Given the description of an element on the screen output the (x, y) to click on. 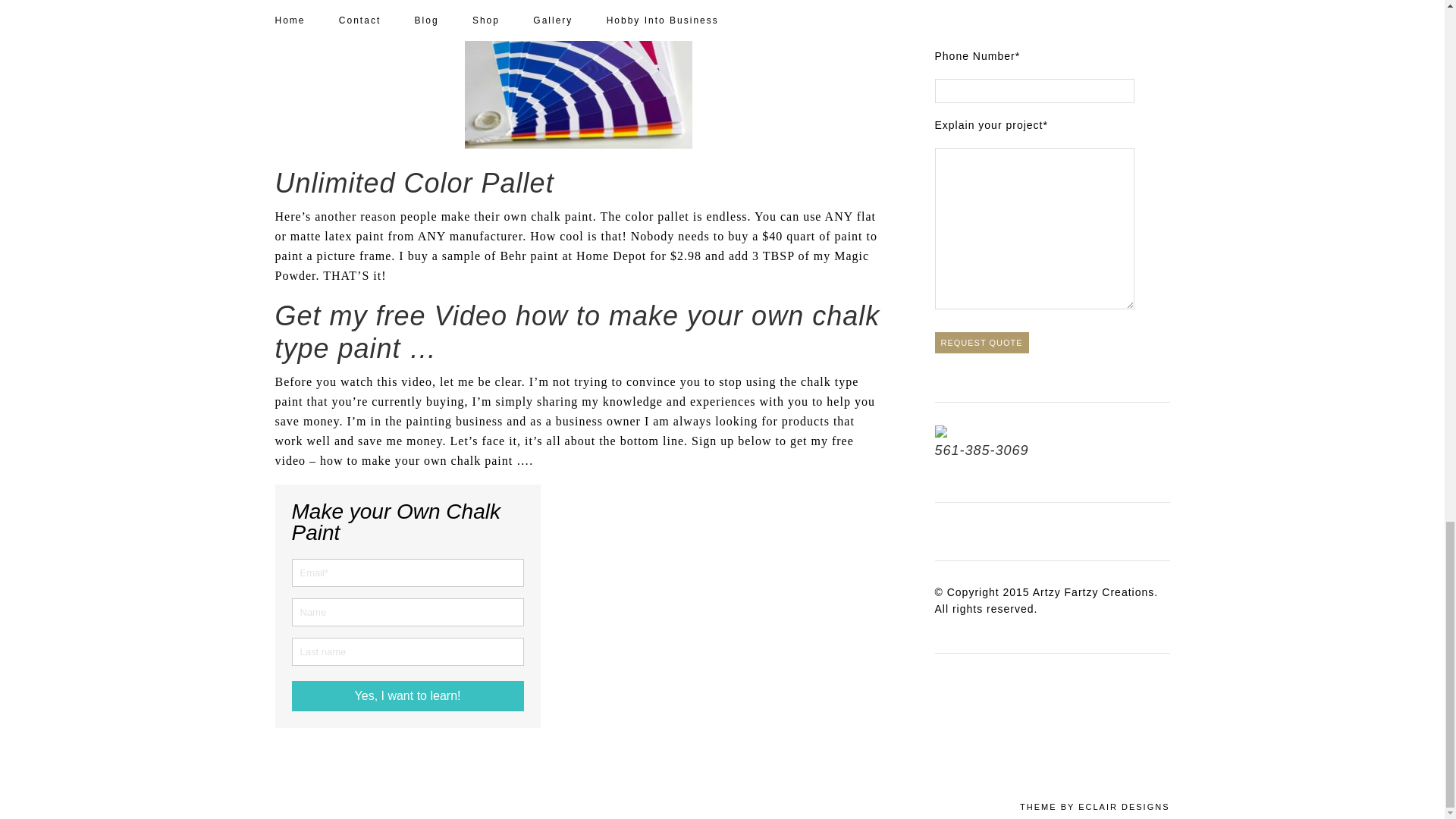
Request Quote (980, 342)
Yes, I want to learn! (406, 695)
ECLAIR DESIGNS (1123, 806)
Request Quote (980, 342)
